Given the description of an element on the screen output the (x, y) to click on. 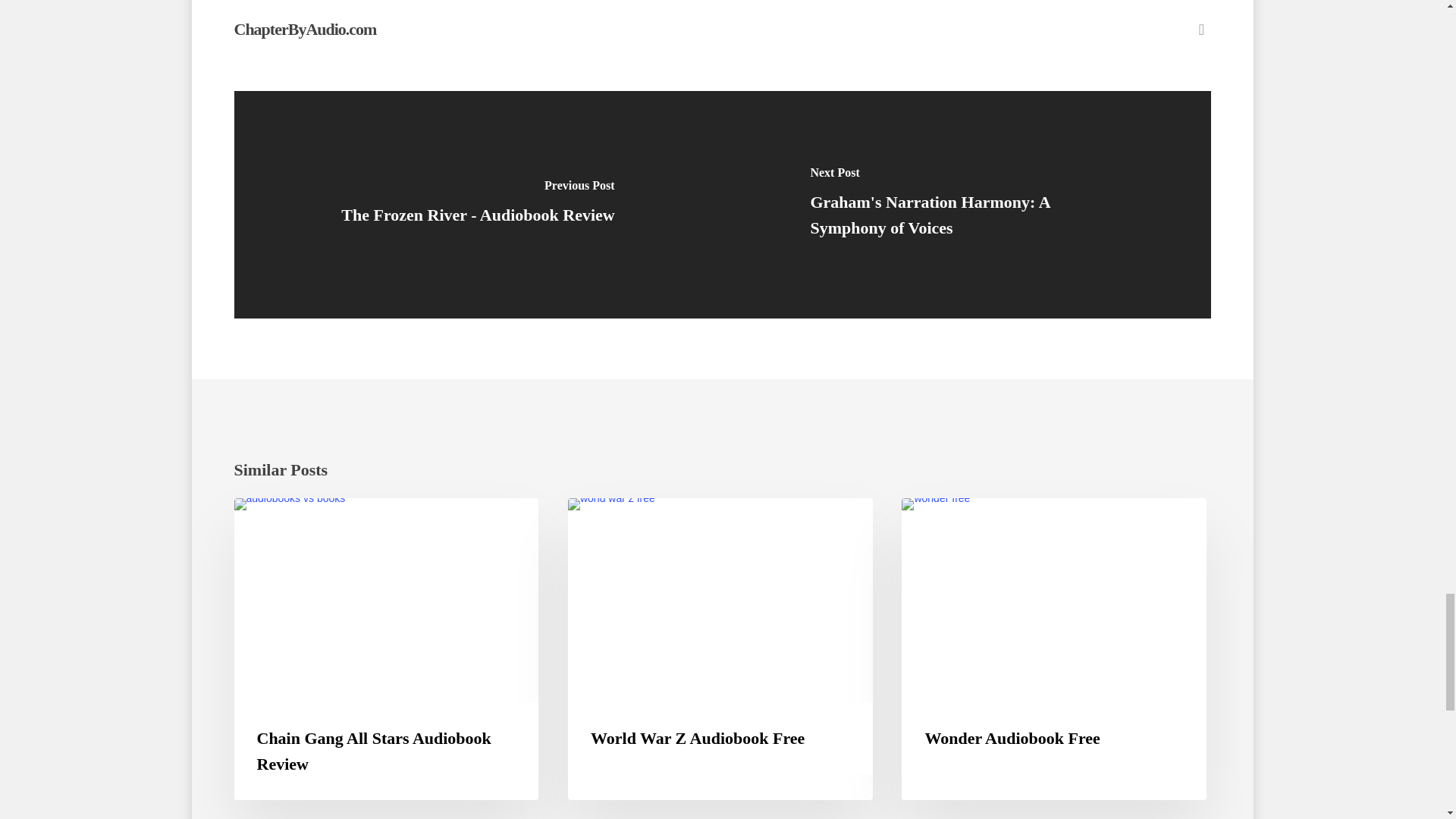
UNCATEGORIZED (965, 522)
UNCATEGORIZED (631, 522)
UNCATEGORIZED (297, 522)
